Given the description of an element on the screen output the (x, y) to click on. 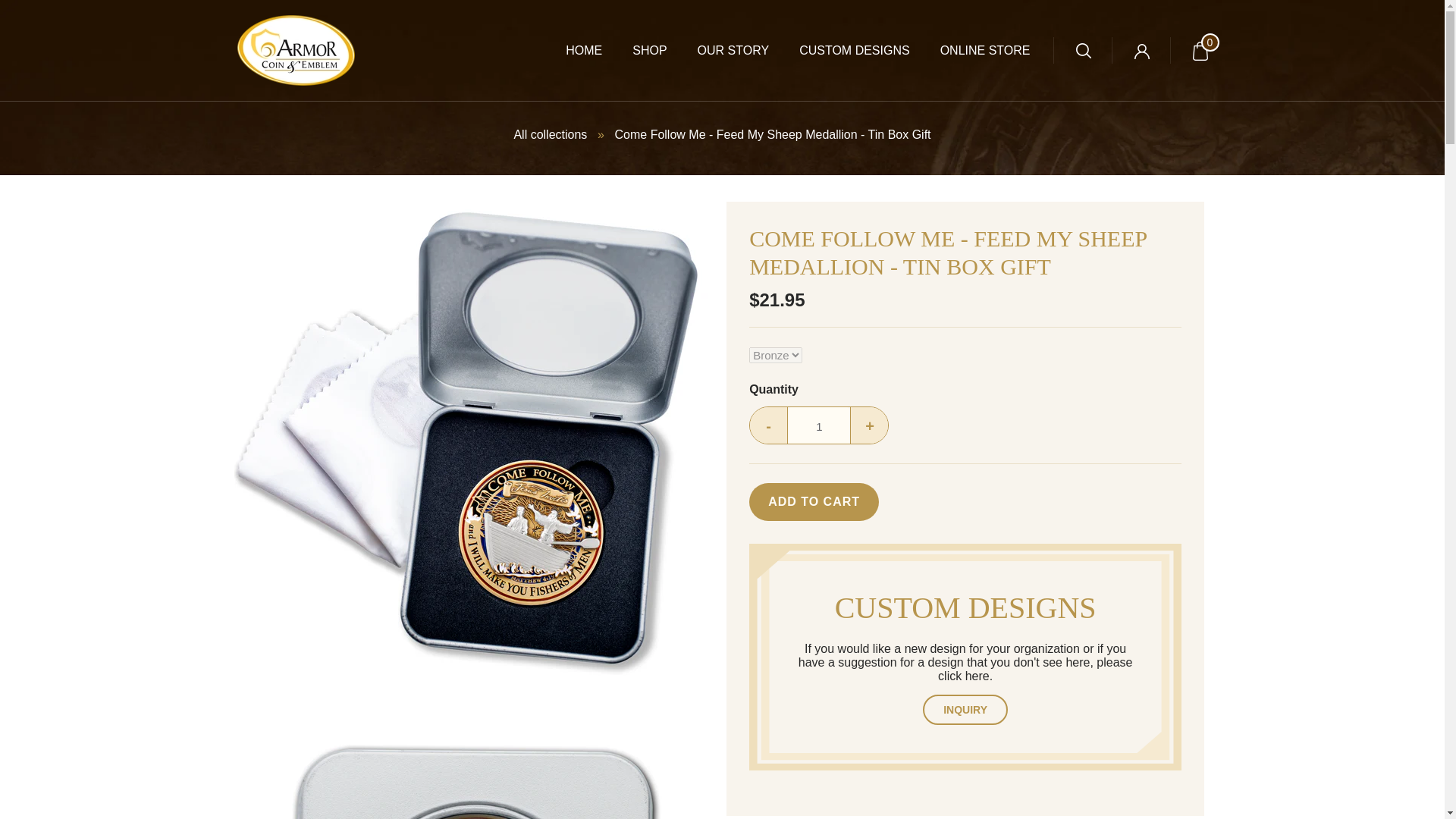
OUR STORY (718, 50)
CUSTOM DESIGNS (839, 50)
ADD TO CART (814, 501)
1 (818, 426)
INQUIRY (965, 709)
ONLINE STORE (970, 50)
INQUIRY (965, 709)
SHOP (634, 50)
0 (1199, 50)
All collections (549, 133)
